Given the description of an element on the screen output the (x, y) to click on. 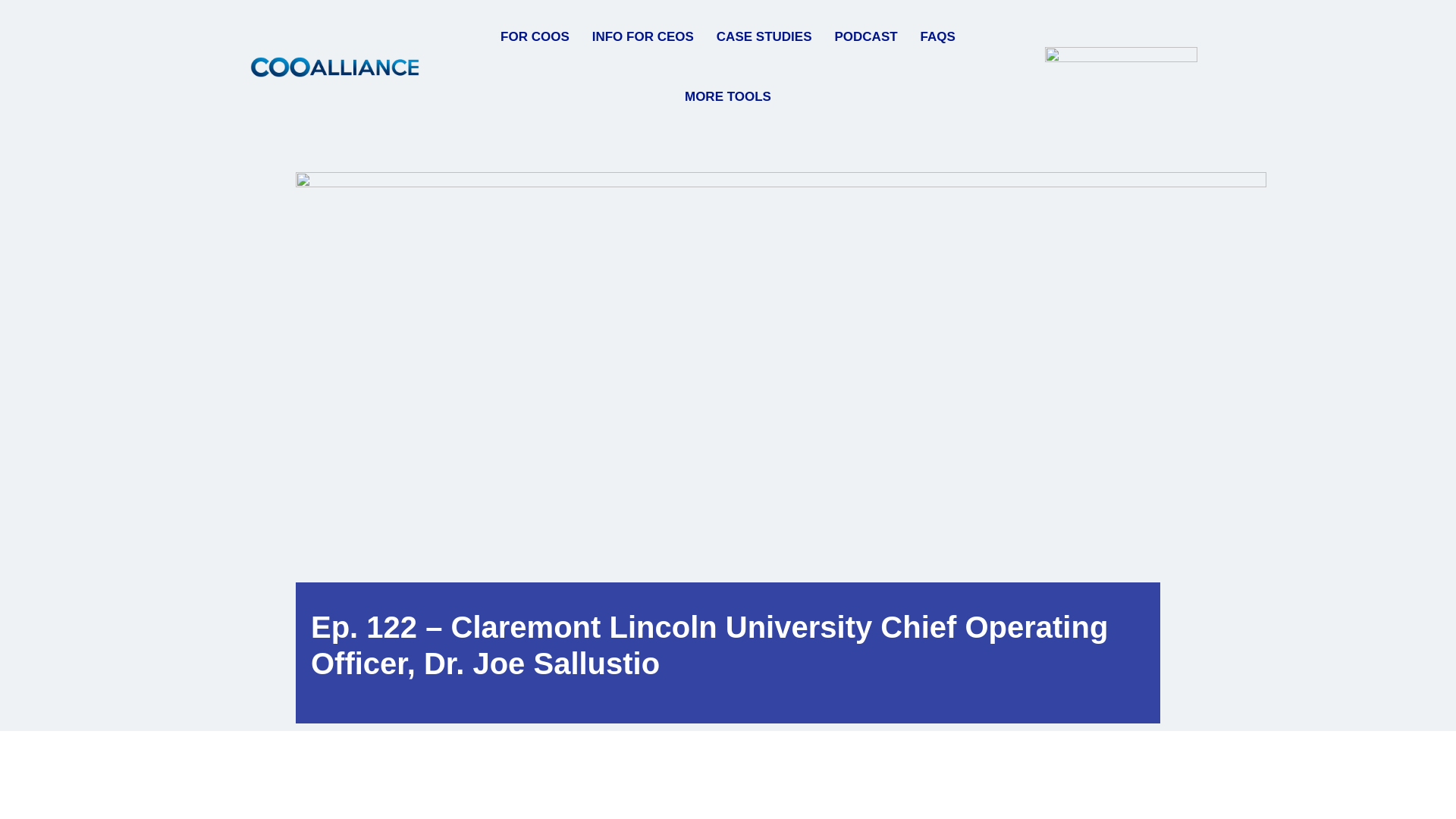
FAQS (931, 37)
FOR COOS (529, 37)
CASE STUDIES (757, 37)
INFO FOR CEOS (636, 37)
MORE TOOLS (722, 97)
PODCAST (859, 37)
